Given the description of an element on the screen output the (x, y) to click on. 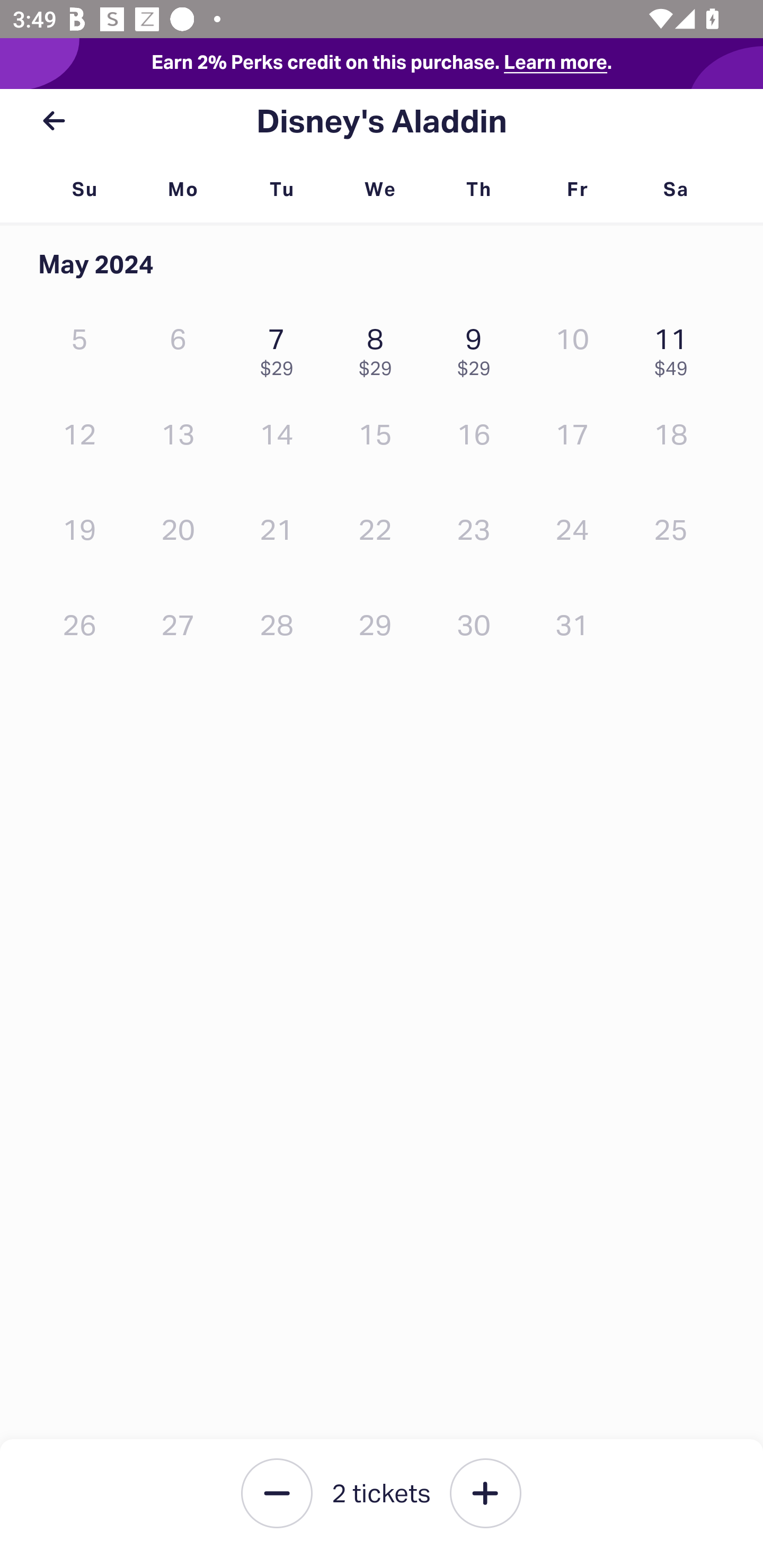
Earn 2% Perks credit on this purchase. Learn more. (381, 63)
back button (53, 120)
7 $29 (281, 347)
8 $29 (379, 347)
9 $29 (478, 347)
11 $49 (675, 347)
